Given the description of an element on the screen output the (x, y) to click on. 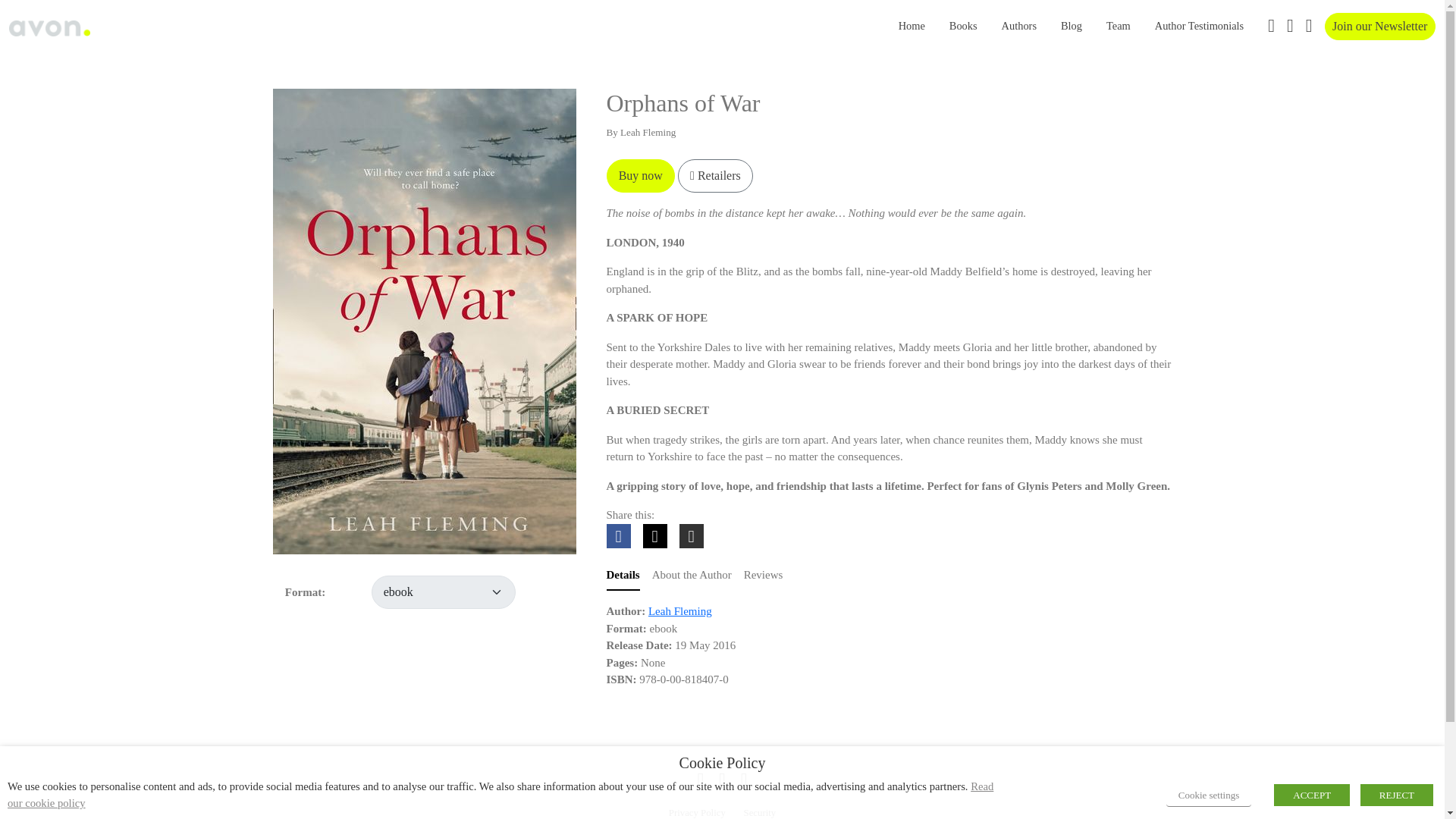
Buy now (641, 175)
Home (911, 26)
Team (1118, 26)
Reviews (763, 575)
Books (963, 26)
Leah Fleming (679, 611)
Author Testimonials (1198, 26)
Details (623, 575)
About the Author (692, 575)
Join our Newsletter (1379, 26)
